Given the description of an element on the screen output the (x, y) to click on. 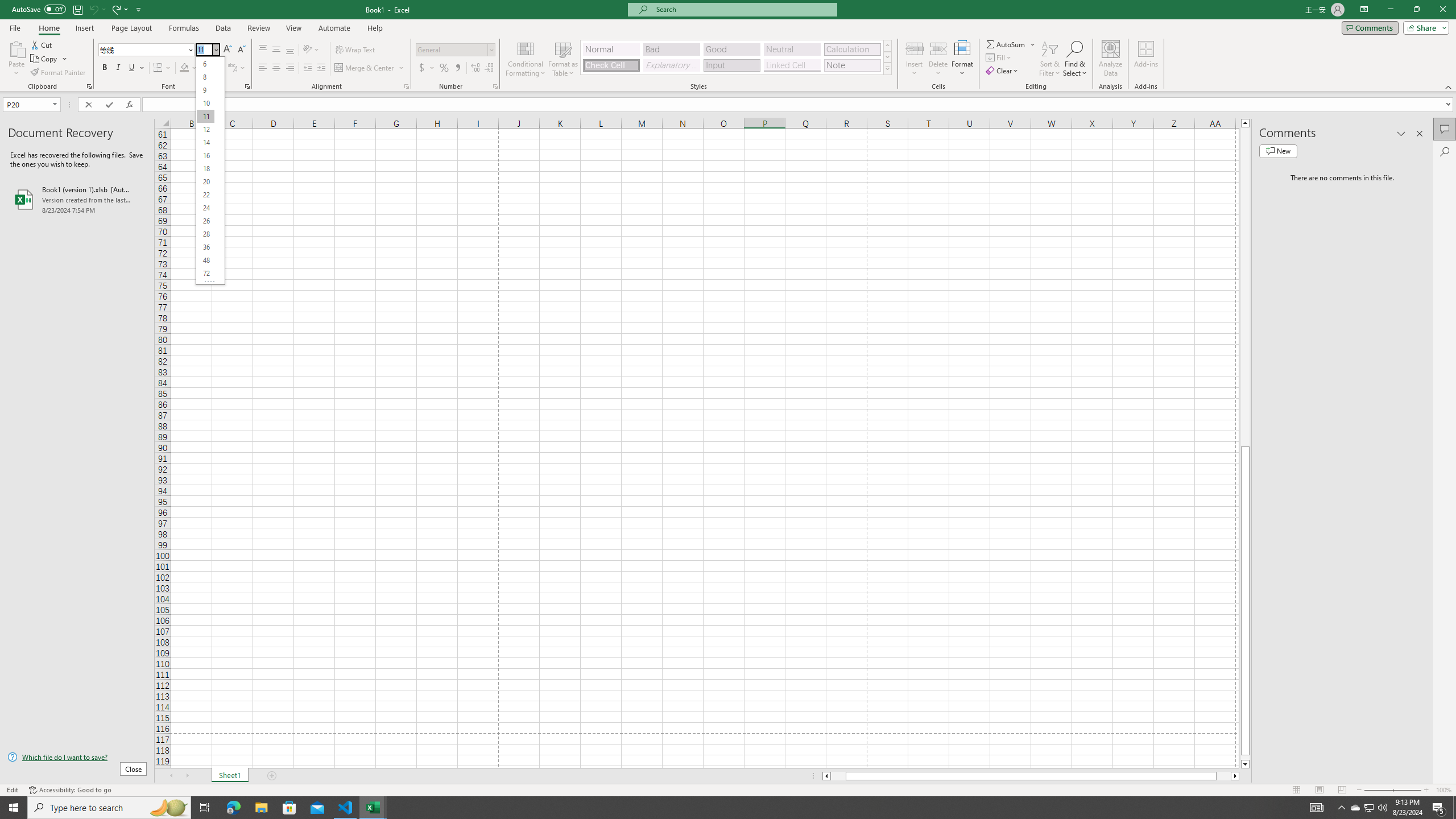
20 (205, 181)
22 (205, 194)
Row up (887, 45)
9 (205, 89)
Collapse the Ribbon (1448, 86)
Scroll Right (187, 775)
Class: MsoCommandBar (728, 45)
System (6, 6)
Linked Cell (791, 65)
Zoom In (1426, 790)
